Given the description of an element on the screen output the (x, y) to click on. 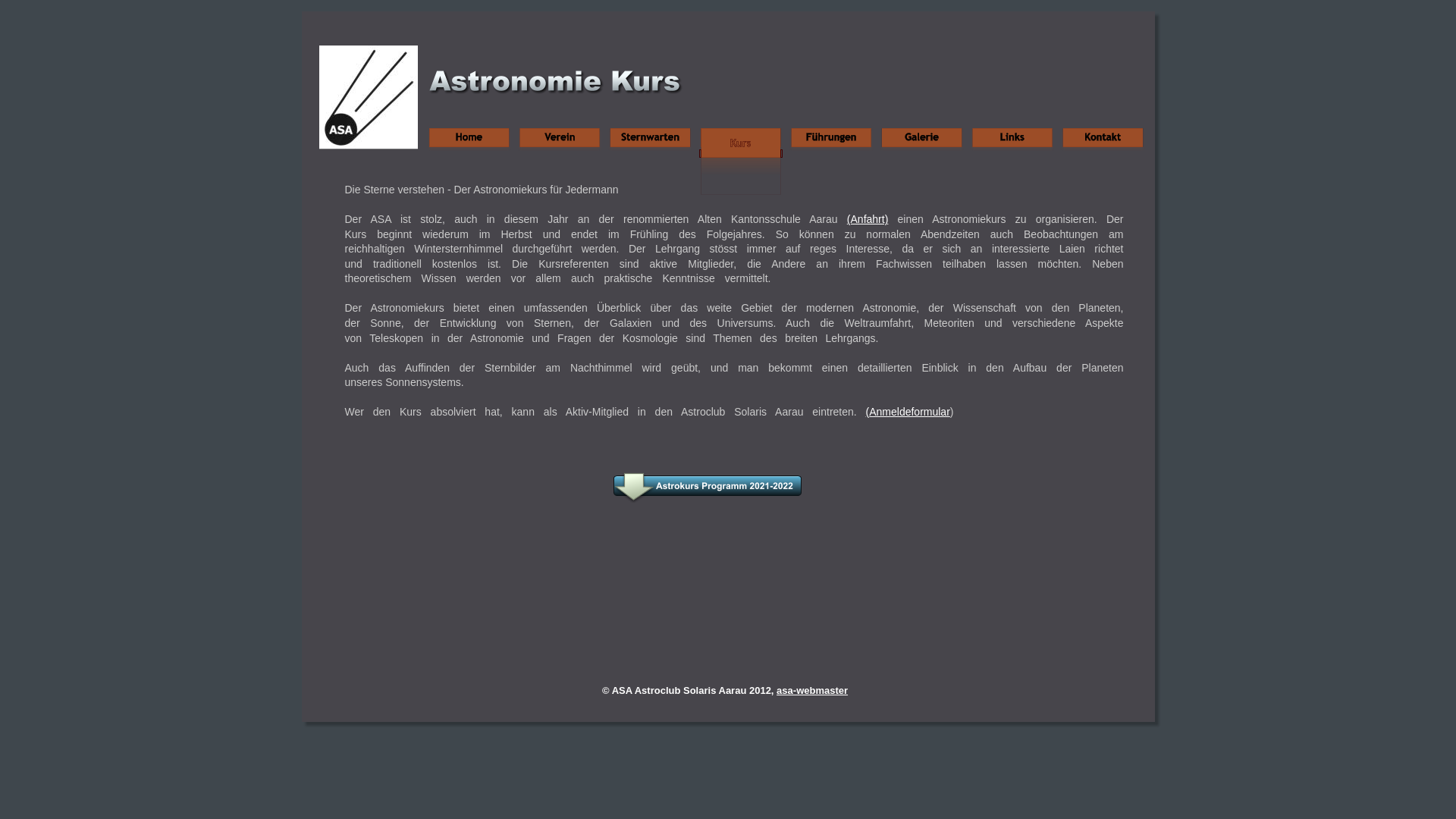
Anmeldeformular Element type: text (909, 411)
(Anfahrt) Element type: text (867, 219)
asa-webmaster Element type: text (811, 690)
( Element type: text (867, 411)
